Given the description of an element on the screen output the (x, y) to click on. 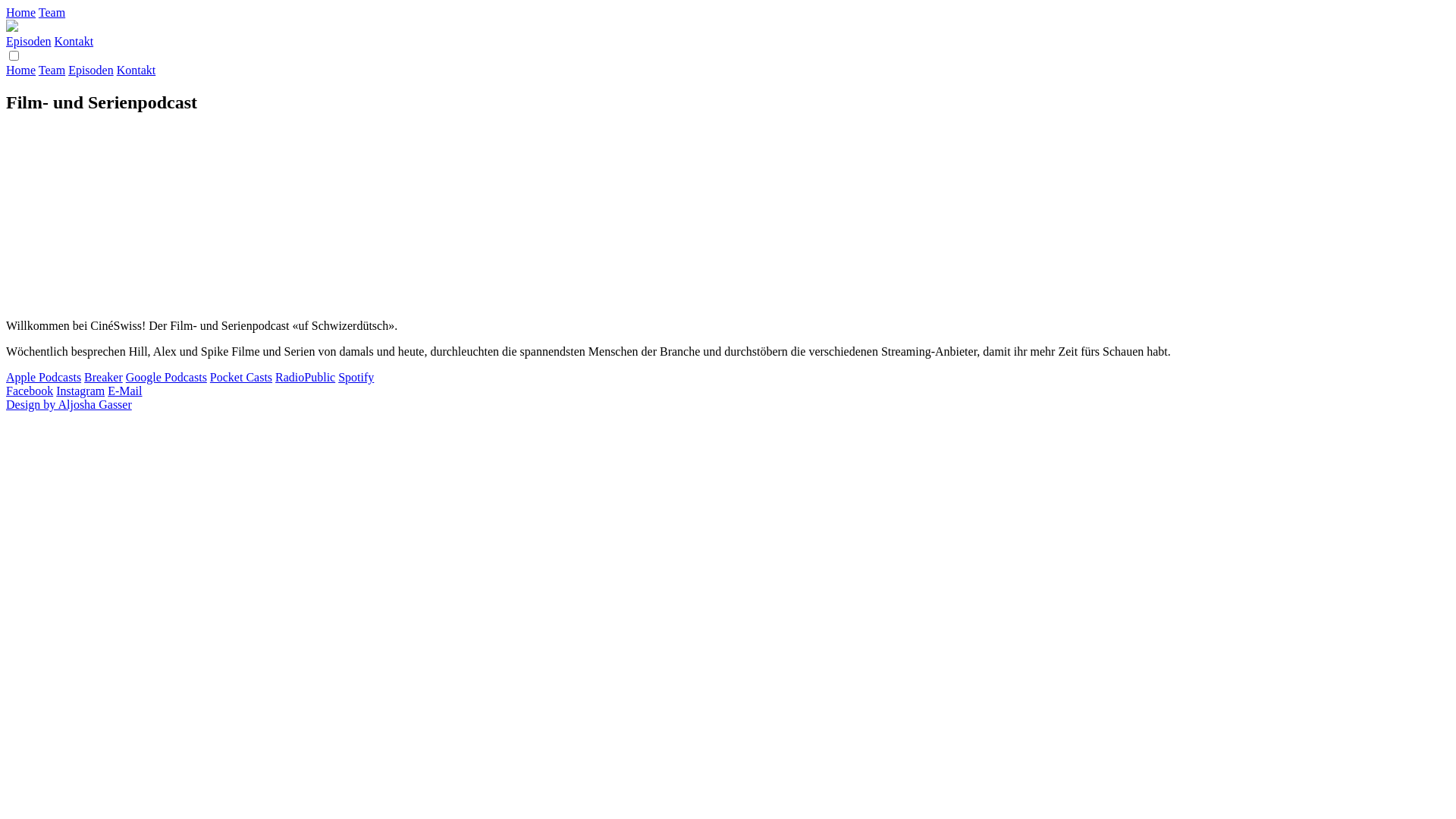
Pocket Casts Element type: text (241, 376)
Instagram Element type: text (80, 390)
Team Element type: text (51, 12)
Episoden Element type: text (28, 40)
RadioPublic Element type: text (305, 376)
Facebook Element type: text (29, 390)
Episoden Element type: text (90, 69)
Team Element type: text (51, 69)
E-Mail Element type: text (124, 390)
Breaker Element type: text (103, 376)
Home Element type: text (20, 69)
Kontakt Element type: text (74, 40)
Kontakt Element type: text (136, 69)
Apple Podcasts Element type: text (43, 376)
Spotify Element type: text (355, 376)
Home Element type: text (20, 12)
Design by Aljosha Gasser Element type: text (68, 404)
Google Podcasts Element type: text (166, 376)
